Given the description of an element on the screen output the (x, y) to click on. 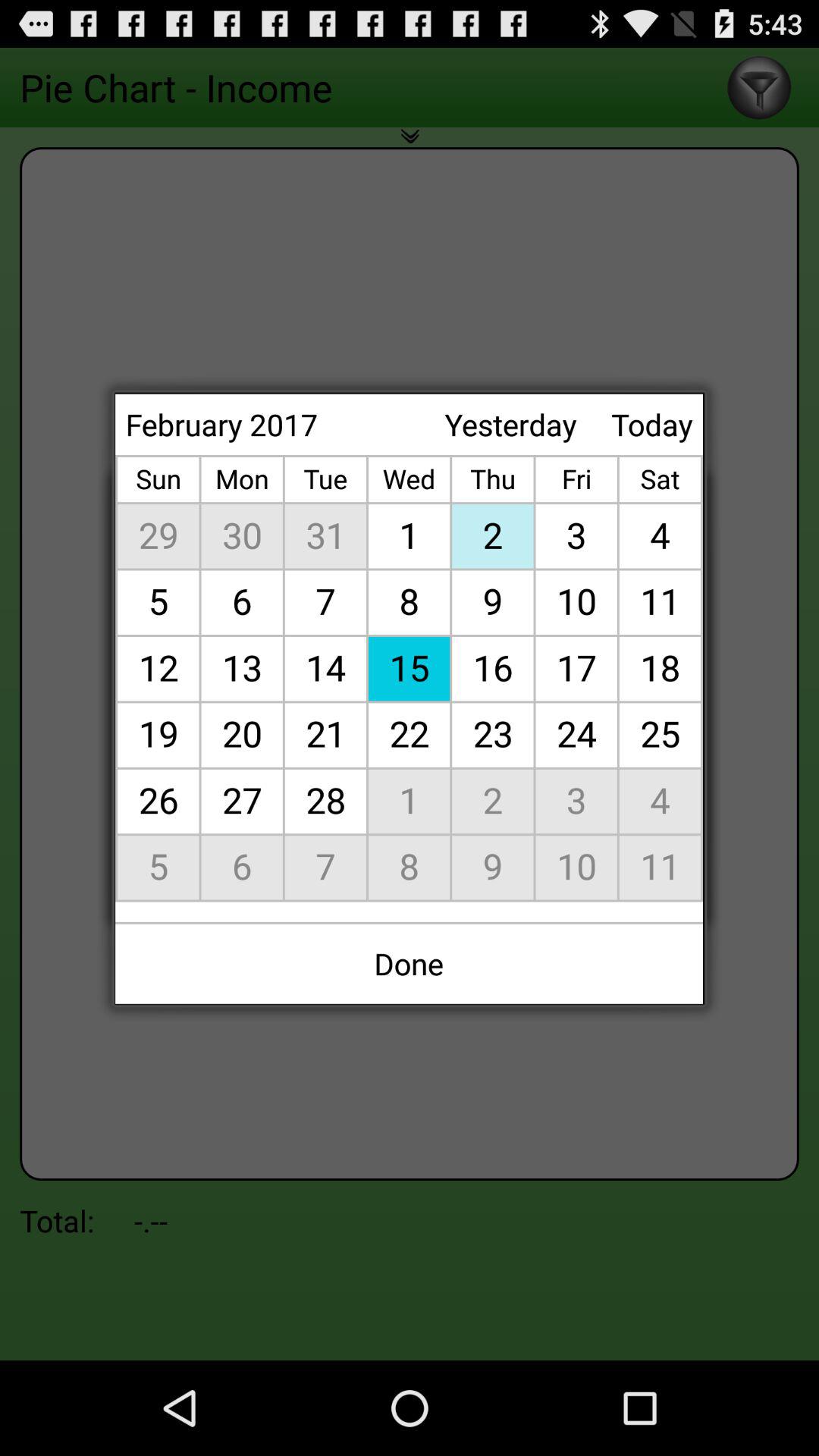
open today icon (651, 424)
